Given the description of an element on the screen output the (x, y) to click on. 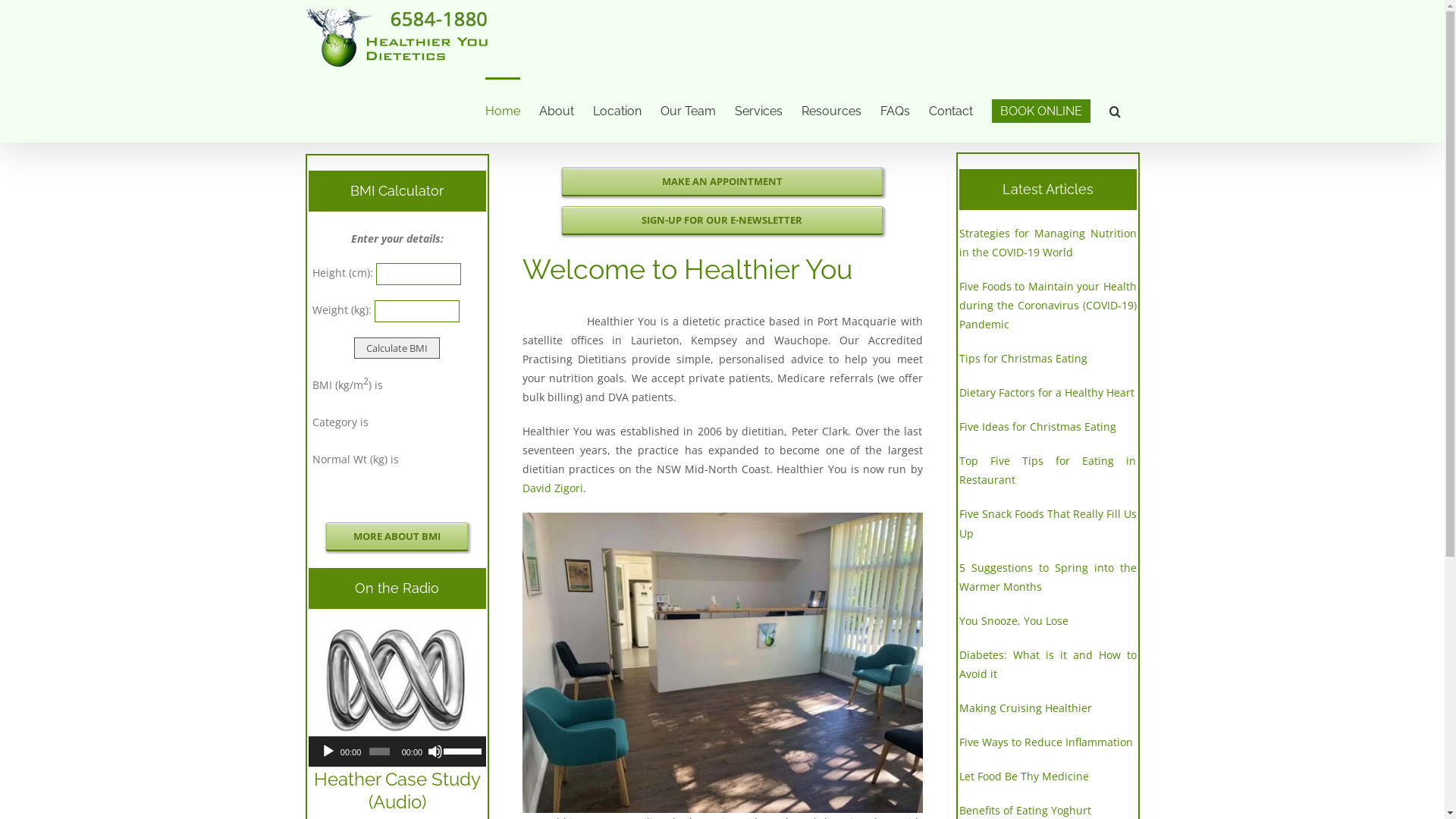
MORE ABOUT BMI Element type: text (396, 535)
Home Element type: text (502, 109)
Making Cruising Healthier Element type: text (1024, 707)
Use Up/Down Arrow keys to increase or decrease volume. Element type: text (460, 749)
MAKE AN APPOINTMENT Element type: text (721, 180)
About Element type: text (555, 109)
Reception Healthier You Element type: hover (721, 662)
Mute Element type: hover (434, 751)
Contact Element type: text (950, 109)
Five Snack Foods That Really Fill Us Up Element type: text (1046, 522)
Search Element type: hover (1114, 109)
Location Element type: text (617, 109)
Strategies for Managing Nutrition in the COVID-19 World Element type: text (1046, 242)
Services Element type: text (757, 109)
BOOK ONLINE Element type: text (1040, 109)
SIGN-UP FOR OUR E-NEWSLETTER Element type: text (721, 219)
Five Ideas for Christmas Eating Element type: text (1036, 426)
Benefits of Eating Yoghurt Element type: text (1024, 810)
David Zigori Element type: text (551, 487)
Our Team Element type: text (687, 109)
5 Suggestions to Spring into the Warmer Months Element type: text (1046, 576)
Resources Element type: text (830, 109)
Play Element type: hover (327, 751)
Diabetes: What is it and How to Avoid it Element type: text (1046, 663)
Top Five Tips for Eating in Restaurant Element type: text (1046, 469)
Let Food Be Thy Medicine Element type: text (1023, 775)
FAQs Element type: text (894, 109)
Tips for Christmas Eating Element type: text (1022, 358)
Five Ways to Reduce Inflammation Element type: text (1045, 741)
You Snooze, You Lose Element type: text (1012, 620)
Dietary Factors for a Healthy Heart Element type: text (1045, 392)
